Given the description of an element on the screen output the (x, y) to click on. 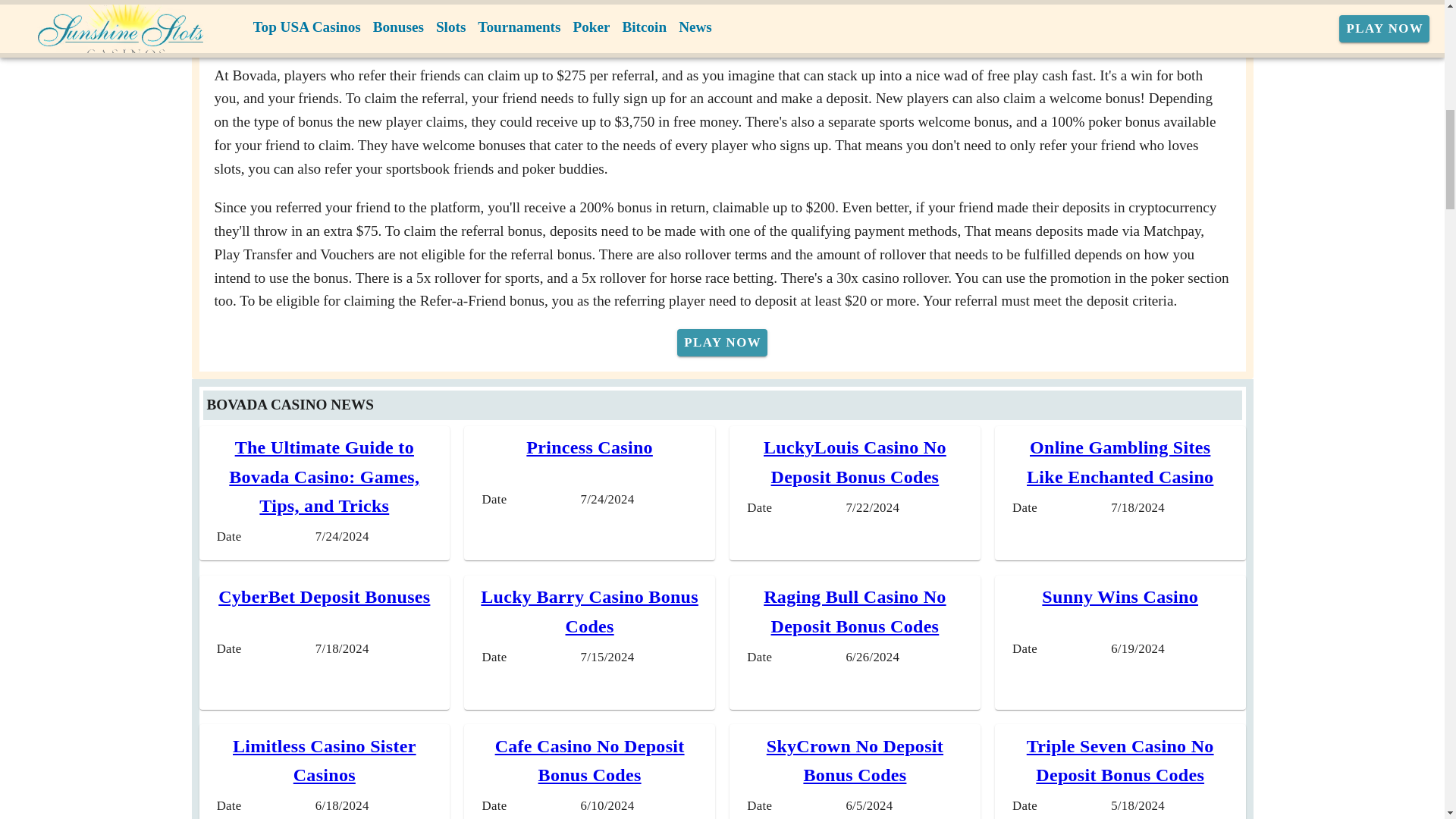
CyberBet Deposit Bonuses (323, 596)
SkyCrown No Deposit Bonus Codes (855, 760)
Lucky Barry Casino Bonus Codes (589, 611)
Triple Seven Casino No Deposit Bonus Codes (1120, 760)
Online Gambling Sites Like Enchanted Casino (1119, 461)
PLAY NOW (722, 342)
Limitless Casino Sister Casinos (324, 760)
Raging Bull Casino No Deposit Bonus Codes (853, 611)
The Ultimate Guide to Bovada Casino: Games, Tips, and Tricks (323, 476)
Sunny Wins Casino (1120, 596)
Princess Casino (588, 447)
LuckyLouis Casino No Deposit Bonus Codes (854, 461)
Cafe Casino No Deposit Bonus Codes (589, 760)
